Given the description of an element on the screen output the (x, y) to click on. 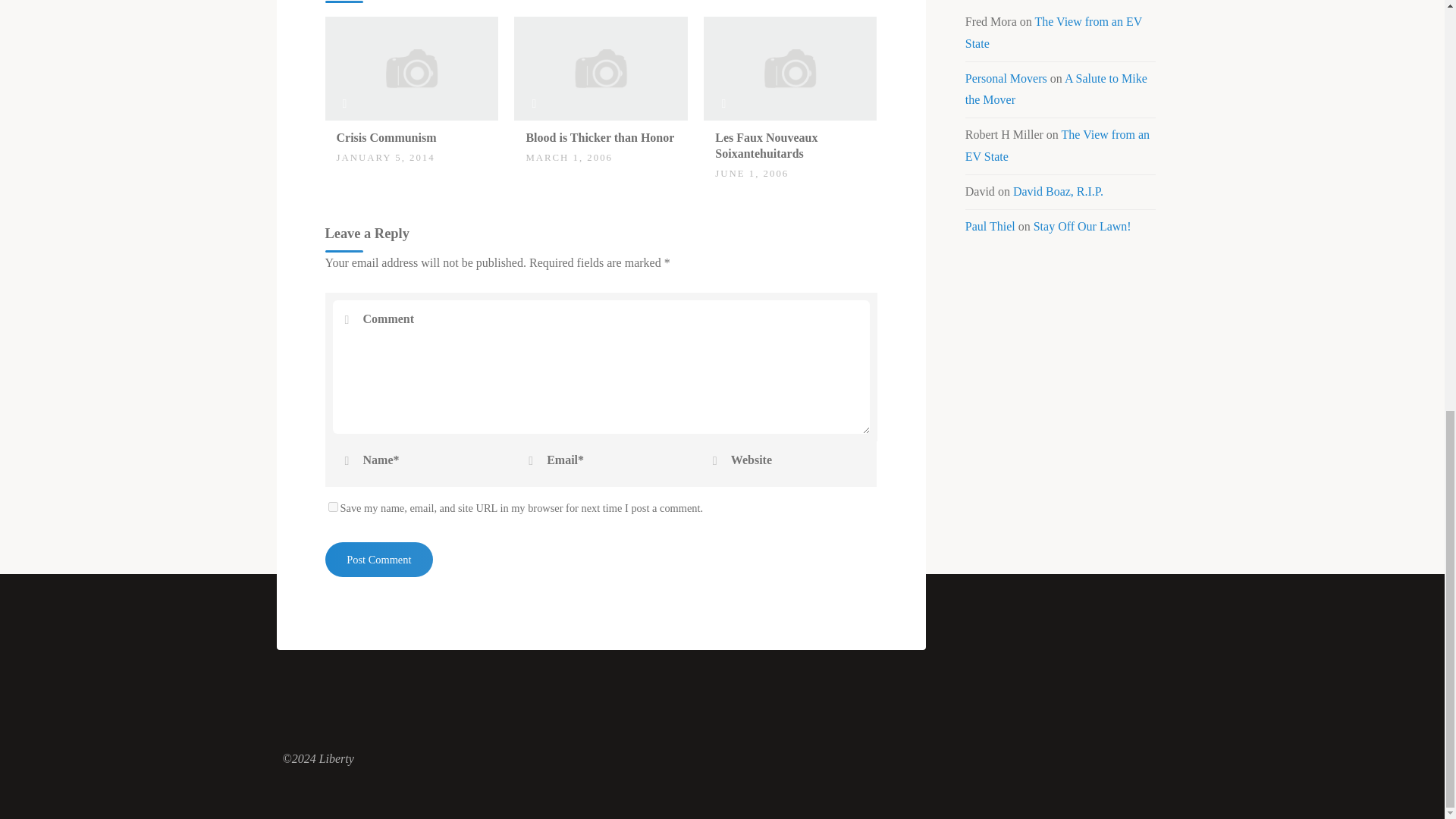
Blood is Thicker than Honor (600, 66)
Crisis Communism (410, 66)
Crisis Communism (386, 137)
yes (332, 506)
0 (533, 130)
Crisis Communism (386, 137)
0 (344, 130)
Blood is Thicker than Honor (599, 137)
Post Comment (378, 559)
